Given the description of an element on the screen output the (x, y) to click on. 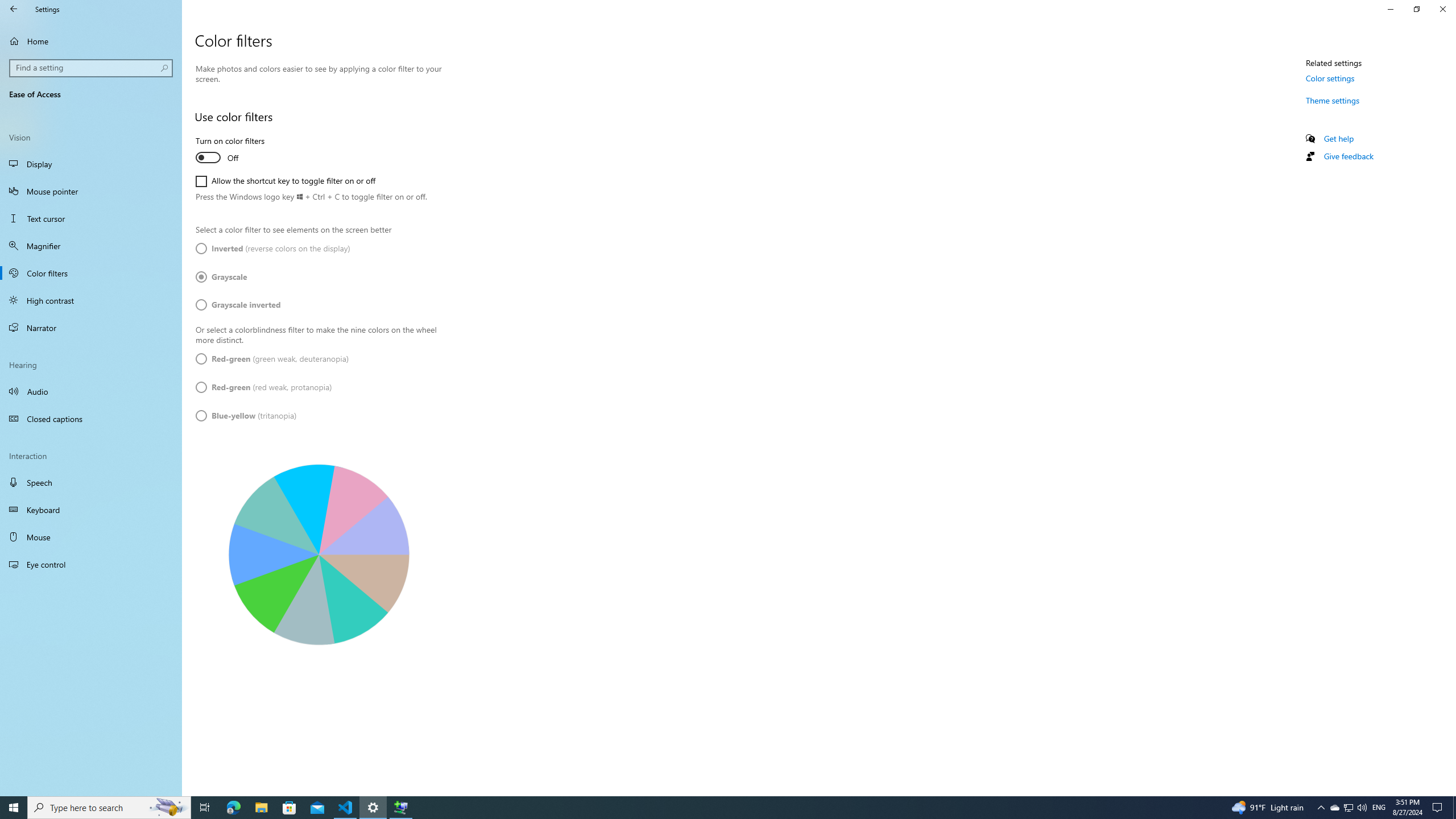
Eye control (91, 564)
Allow the shortcut key to toggle filter on or off (285, 180)
Minimize Settings (1390, 9)
Search box, Find a setting (91, 67)
Restore Settings (1416, 9)
Grayscale inverted (238, 304)
